Given the description of an element on the screen output the (x, y) to click on. 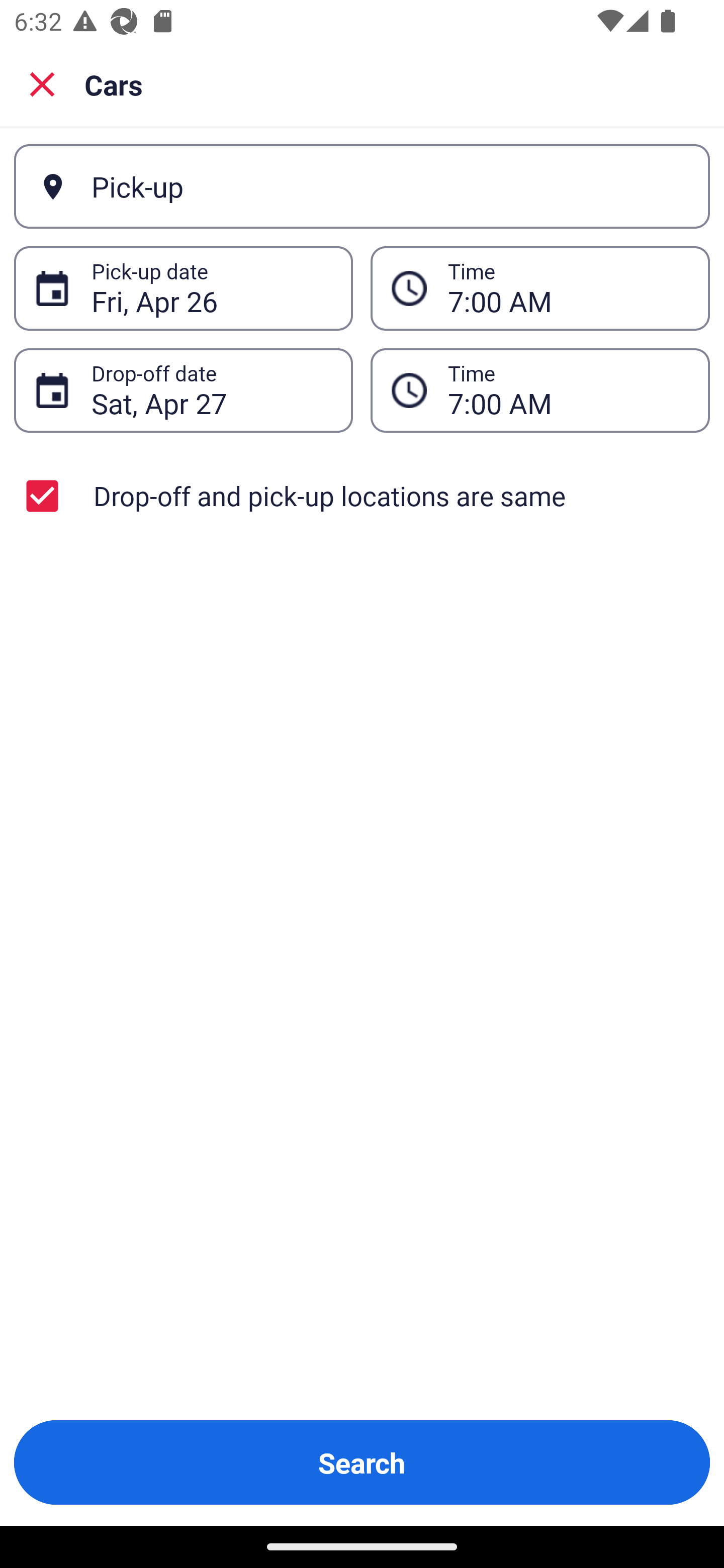
Close search screen (41, 83)
Pick-up (361, 186)
Fri, Apr 26 Pick-up date (183, 288)
7:00 AM (540, 288)
Fri, Apr 26 (211, 288)
7:00 AM (568, 288)
Sat, Apr 27 Drop-off date (183, 390)
7:00 AM (540, 390)
Sat, Apr 27 (211, 390)
7:00 AM (568, 390)
Drop-off and pick-up locations are same (361, 495)
Search Button Search (361, 1462)
